Given the description of an element on the screen output the (x, y) to click on. 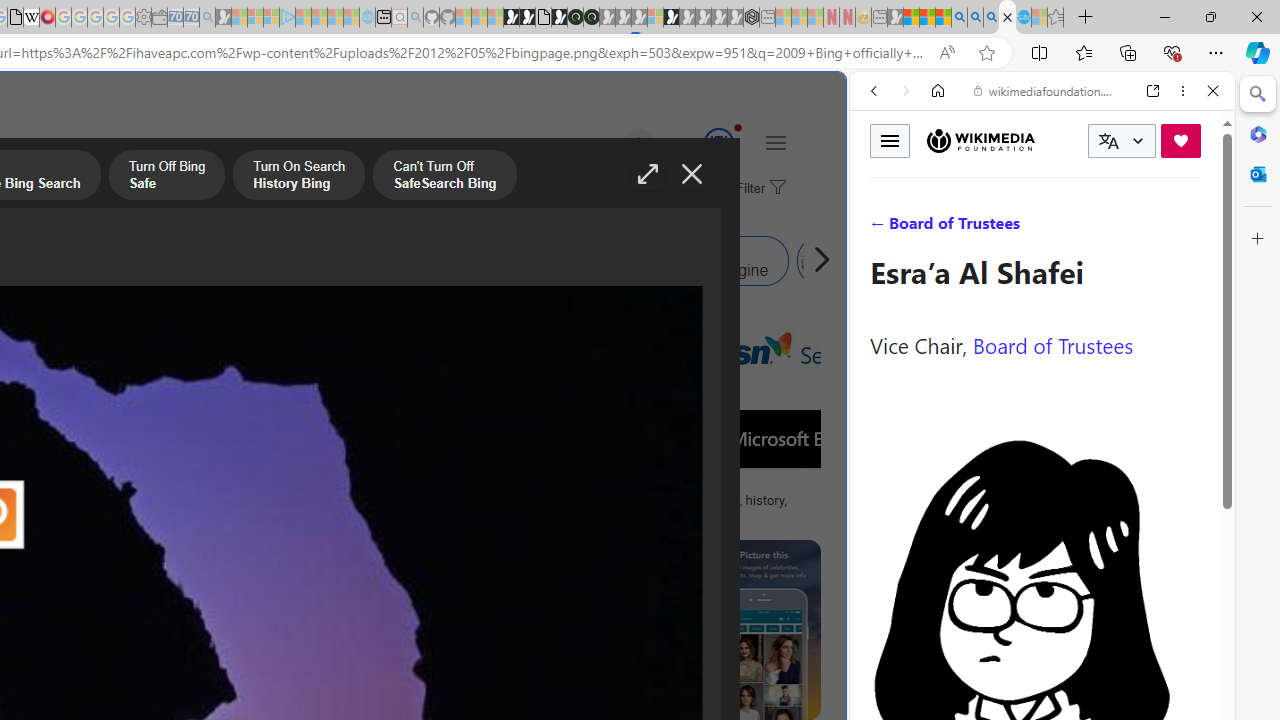
Class: i icon icon-translate language-switcher__icon (1108, 141)
Future Focus Report 2024 (591, 17)
CURRENT LANGUAGE: (1121, 141)
wikimediafoundation.org (1045, 90)
Filter (758, 189)
AutomationID: rh_meter (718, 142)
Bing Logo, symbol, meaning, history, PNG, brand (695, 508)
